Given the description of an element on the screen output the (x, y) to click on. 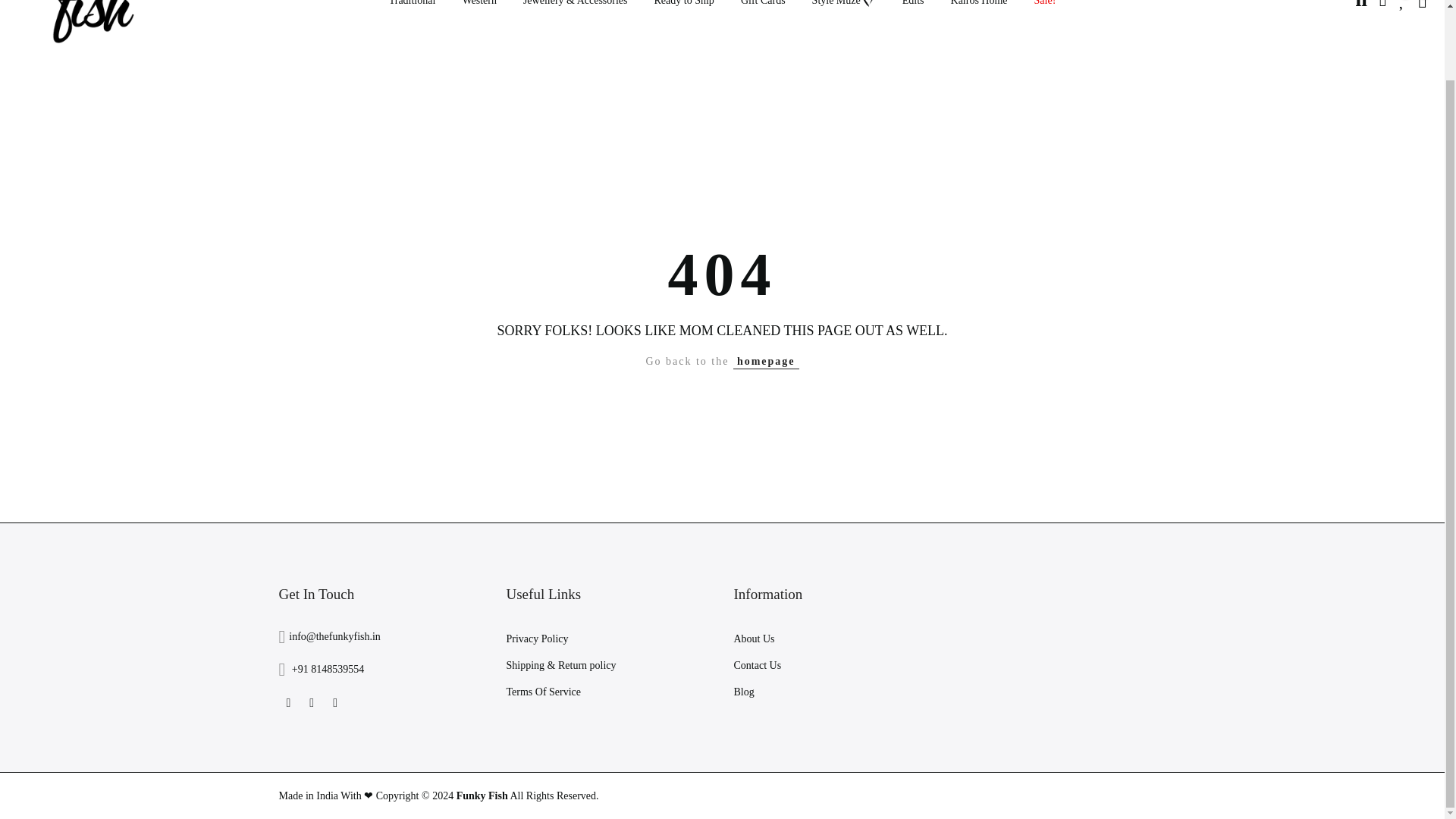
Gift Cards (761, 11)
Contact Us (757, 665)
0 (1402, 6)
Sale! (1044, 11)
Western (479, 11)
Terms Of Service (543, 691)
Traditional (411, 11)
Style Muze (842, 11)
Kairos Home (978, 11)
Ready to Ship (683, 11)
Blog (743, 691)
homepage (766, 361)
Edits (912, 11)
About Us (753, 638)
Privacy Policy (537, 638)
